Given the description of an element on the screen output the (x, y) to click on. 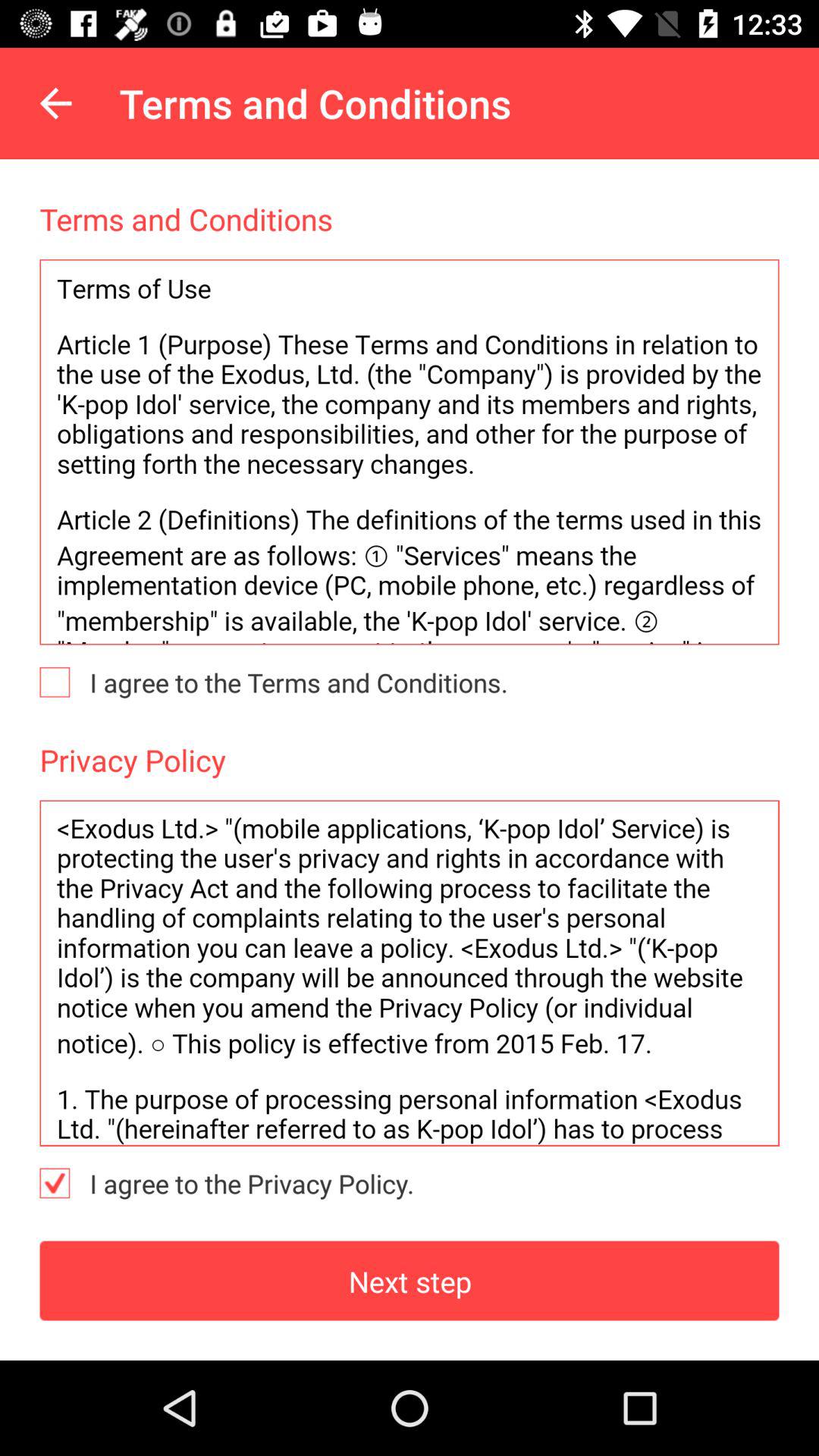
advertisement (409, 973)
